Given the description of an element on the screen output the (x, y) to click on. 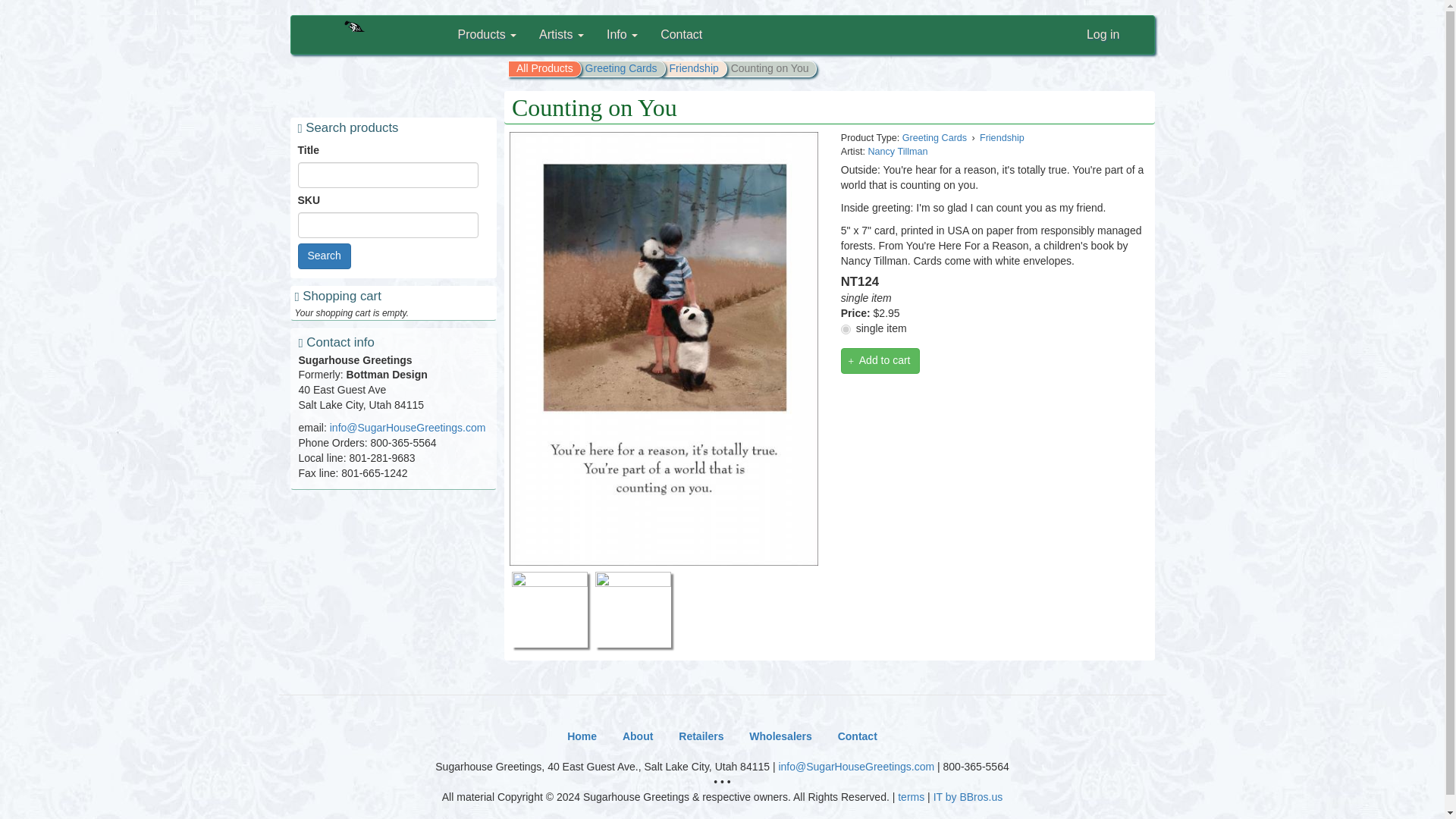
Home (373, 69)
single item (845, 329)
Products (486, 34)
Artists (561, 34)
